Given the description of an element on the screen output the (x, y) to click on. 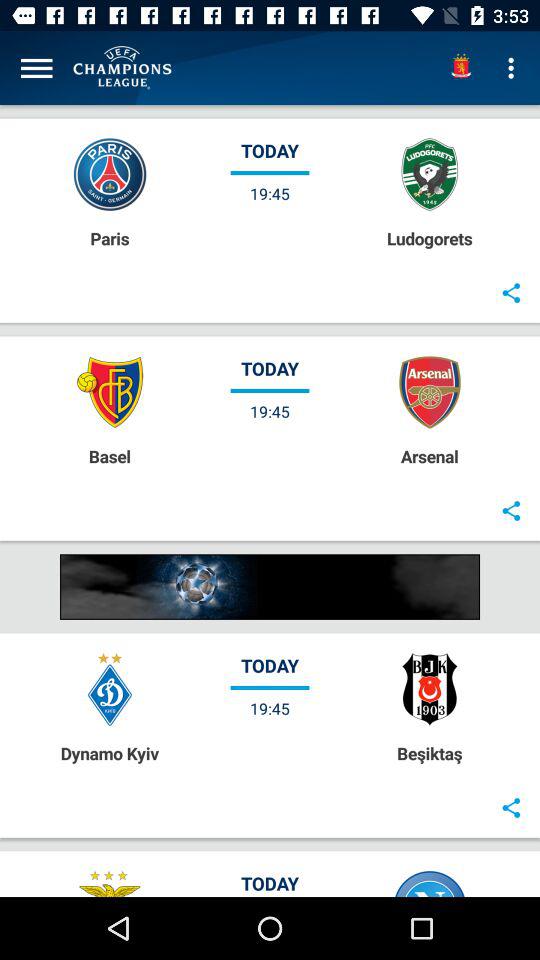
open menu (36, 68)
